Given the description of an element on the screen output the (x, y) to click on. 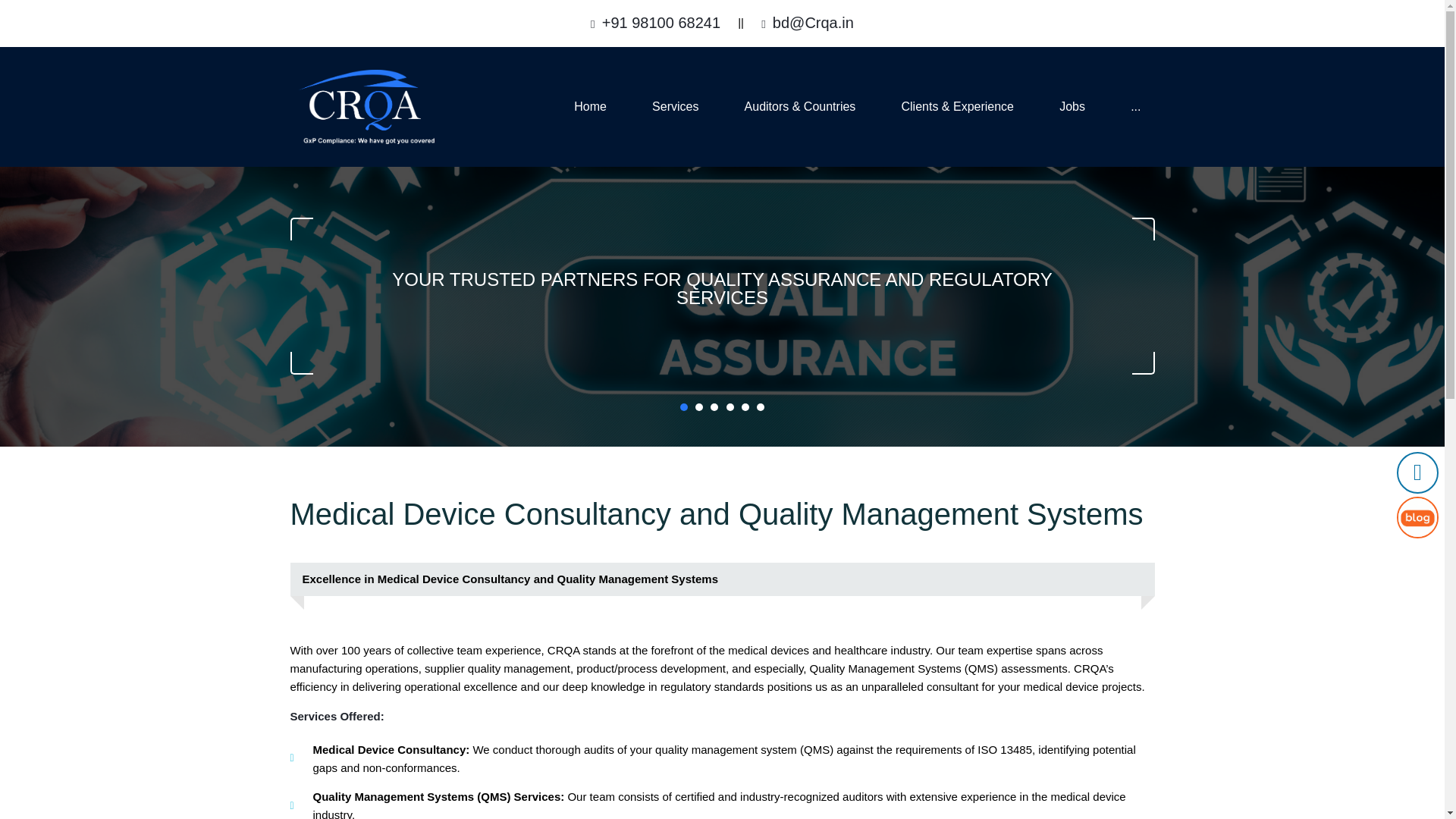
call (661, 22)
mail (813, 22)
